Given the description of an element on the screen output the (x, y) to click on. 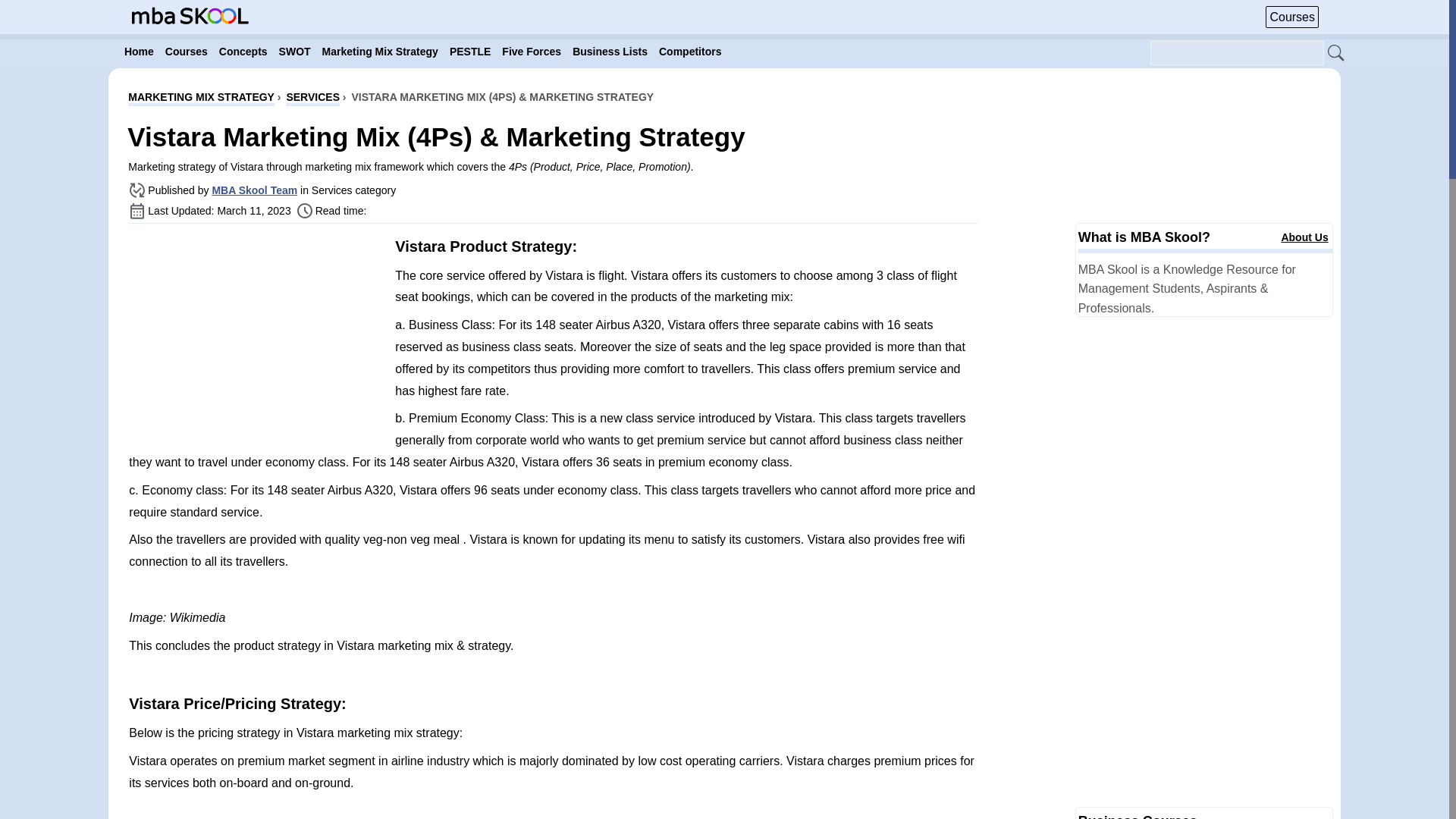
Home (138, 52)
PESTLE (469, 52)
MARKETING MIX STRATEGY (201, 98)
SERVICES (312, 98)
SWOT (295, 52)
MBA Skool (189, 19)
Courses (186, 52)
About Us (1304, 236)
MBA Skool (189, 15)
Five Forces (531, 52)
